Given the description of an element on the screen output the (x, y) to click on. 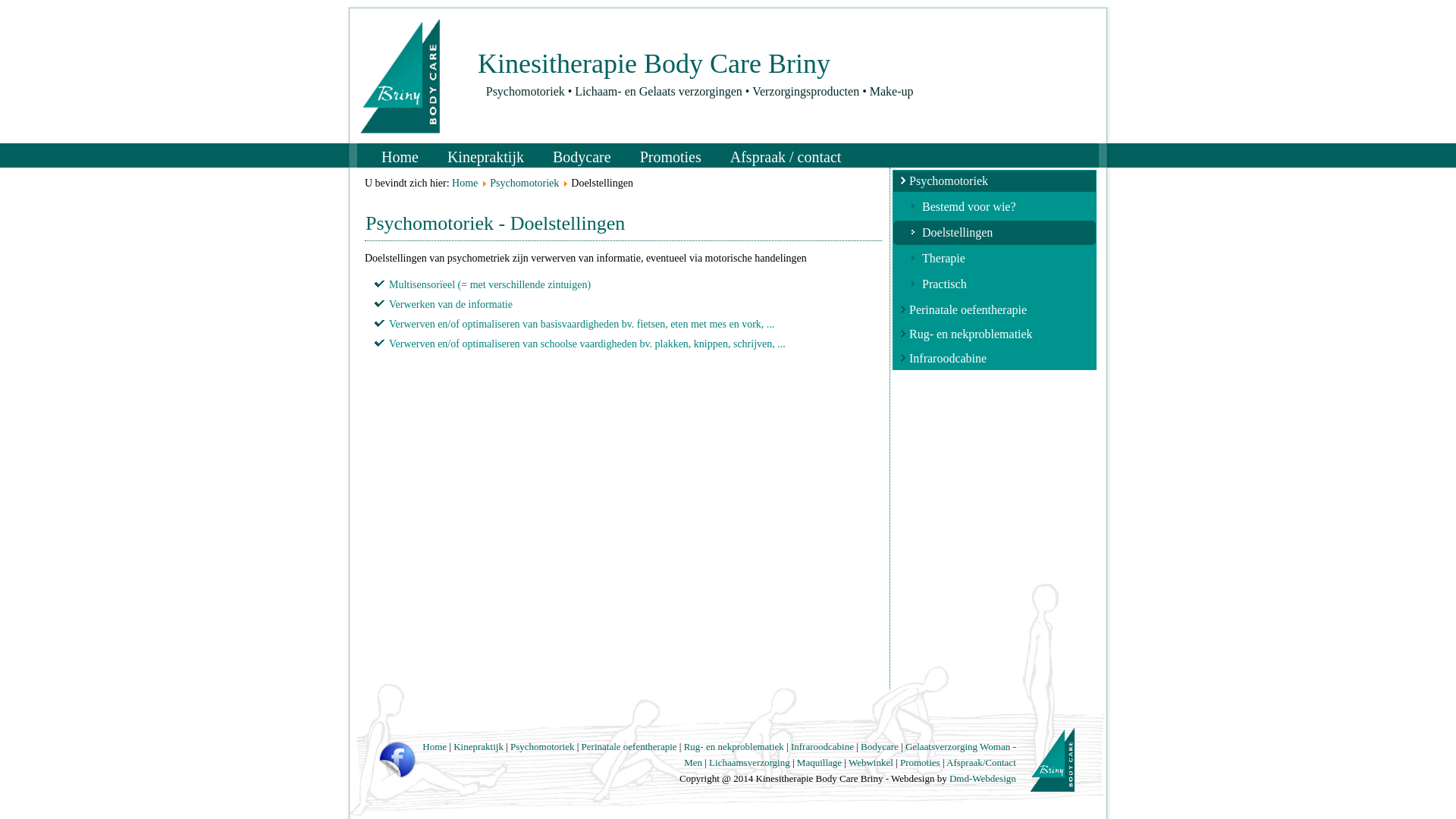
Dmd-Webdesign Element type: text (982, 777)
Perinatale oefentherapie Element type: text (629, 745)
Infraroodcabine Element type: text (821, 745)
Therapie Element type: text (994, 258)
Kinepraktijk Element type: text (478, 745)
Webwinkel Element type: text (870, 762)
Perinatale oefentherapie Element type: text (994, 309)
Gelaatsverzorging Woman - Men Element type: text (850, 753)
Rug- en nekproblematiek Element type: text (994, 334)
Promoties Element type: text (921, 762)
Lichaamsverzorging Element type: text (749, 762)
Home Element type: text (434, 745)
Doelstellingen Element type: text (994, 232)
Kinepraktijk Element type: text (485, 156)
Kinesitherapie Body Care Briny Element type: text (653, 63)
Psychomotoriek Element type: text (523, 182)
Afspraak / contact Element type: text (785, 156)
Afspraak/Contact Element type: text (981, 762)
Bestemd voor wie? Element type: text (994, 206)
Bodycare Element type: text (879, 745)
Infraroodcabine Element type: text (994, 358)
Psychomotoriek Element type: text (543, 745)
Home Element type: text (399, 156)
Rug- en nekproblematiek Element type: text (734, 745)
Promoties Element type: text (670, 156)
Home Element type: text (464, 182)
Bodycare Element type: text (581, 156)
Psychomotoriek Element type: text (994, 180)
Practisch Element type: text (994, 284)
Maquillage Element type: text (820, 762)
